Given the description of an element on the screen output the (x, y) to click on. 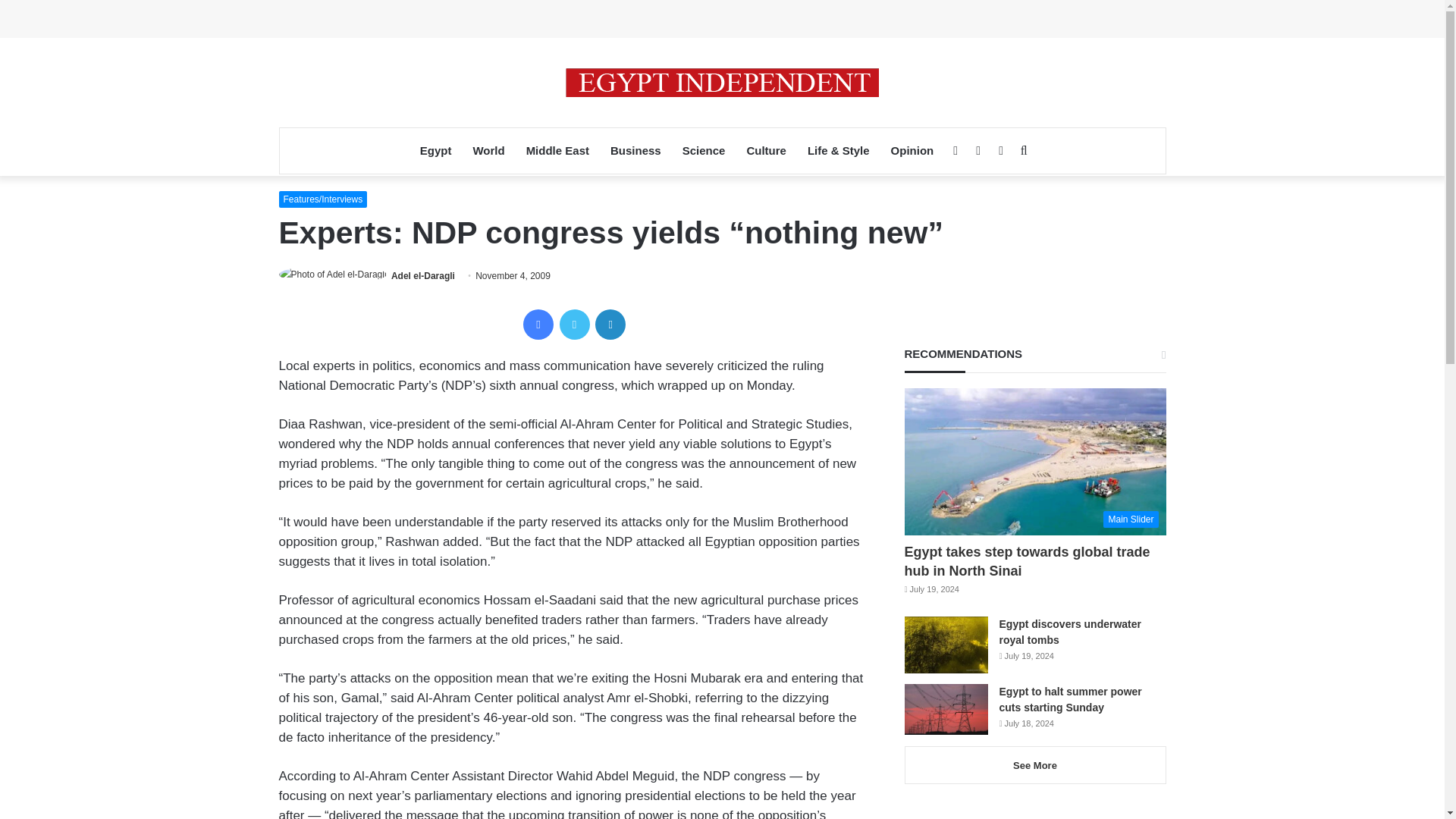
Twitter (574, 324)
Twitter (574, 324)
World (488, 150)
Adel el-Daragli (422, 276)
Facebook (537, 324)
Opinion (912, 150)
Science (703, 150)
Middle East (557, 150)
Egypt (436, 150)
Egypt Independent (722, 82)
Adel el-Daragli (422, 276)
LinkedIn (610, 324)
Facebook (537, 324)
Business (635, 150)
Culture (765, 150)
